Given the description of an element on the screen output the (x, y) to click on. 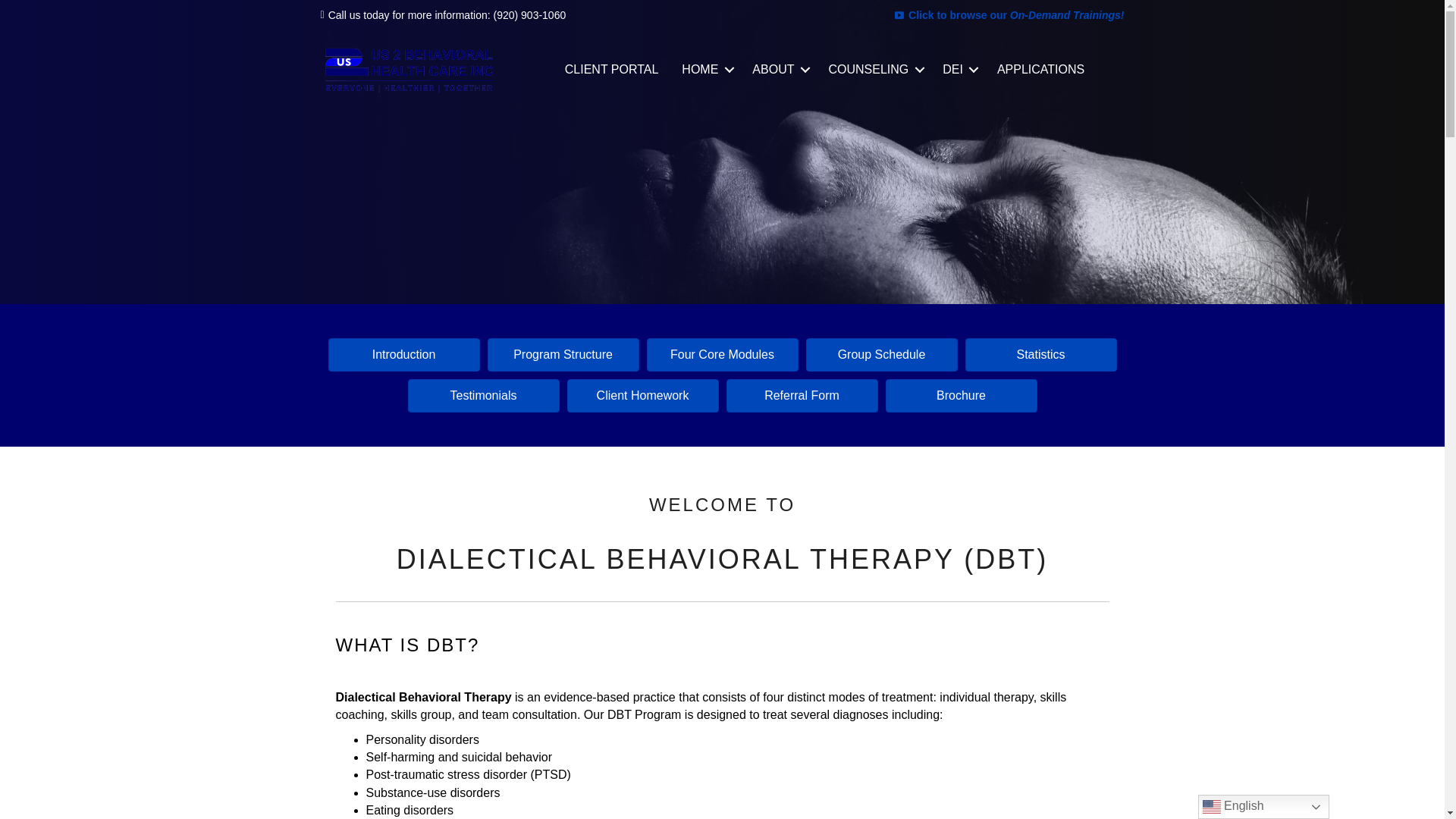
Click to browse our On-Demand Trainings! (1016, 14)
Introduction (403, 354)
Program Structure (562, 354)
HOME (704, 69)
COUNSELING (873, 69)
ABOUT (778, 69)
DEI (958, 69)
Group Schedule (880, 354)
Four Core Modules (721, 354)
CLIENT PORTAL (611, 69)
